Given the description of an element on the screen output the (x, y) to click on. 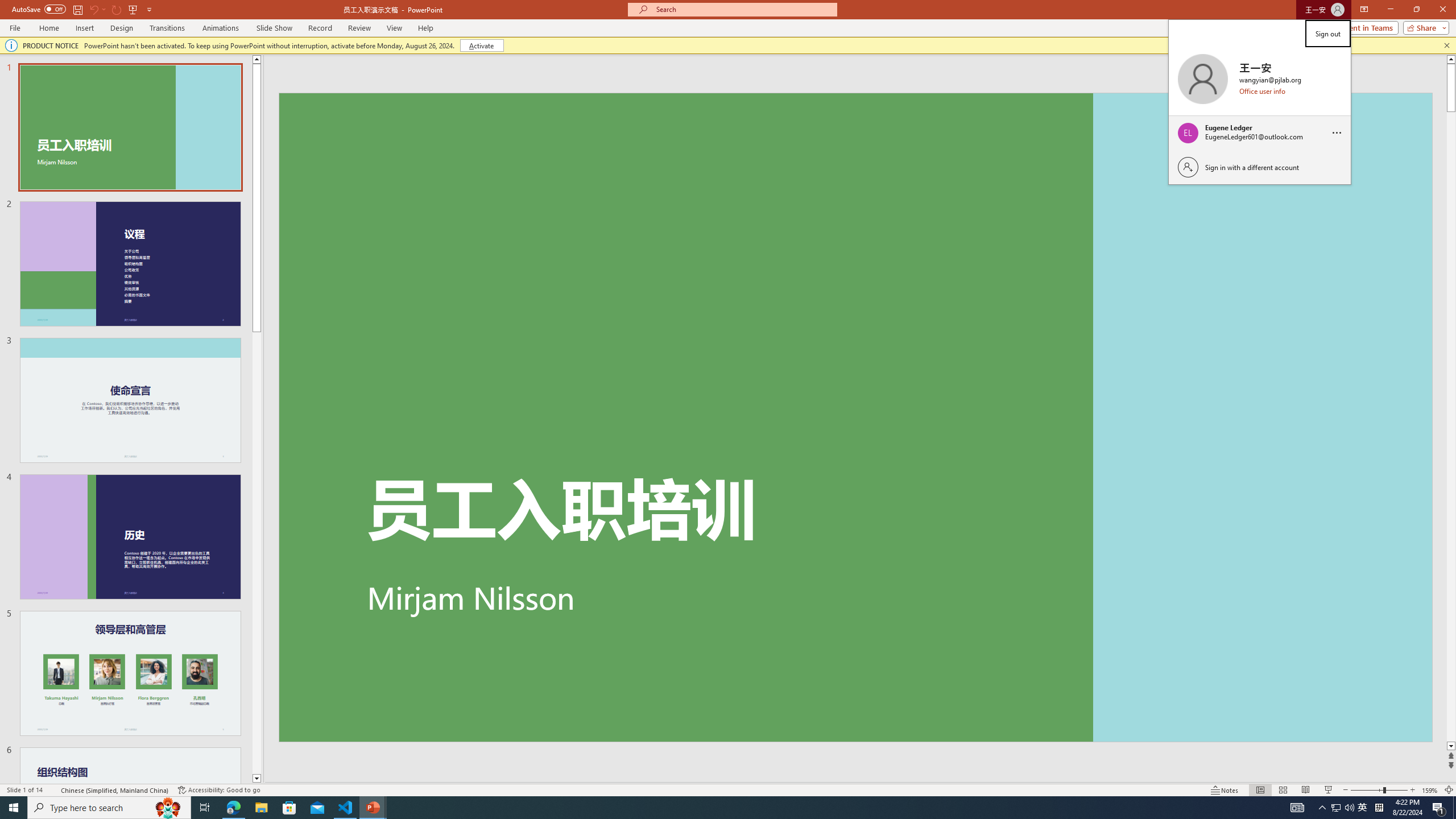
Close this message (1446, 45)
Activate (481, 45)
